Given the description of an element on the screen output the (x, y) to click on. 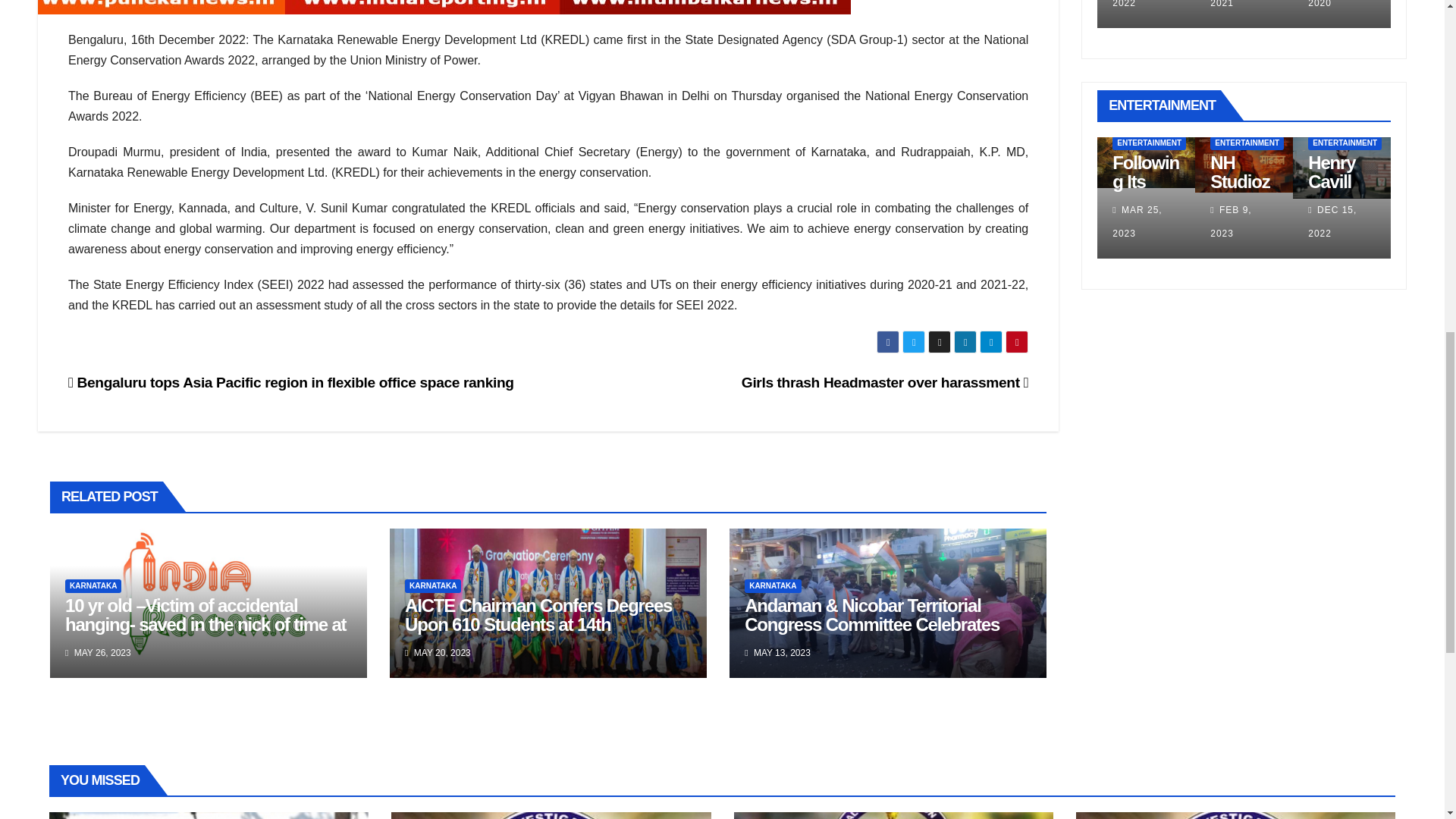
KARNATAKA (772, 585)
KARNATAKA (432, 585)
Girls thrash Headmaster over harassment (884, 382)
KARNATAKA (92, 585)
